Given the description of an element on the screen output the (x, y) to click on. 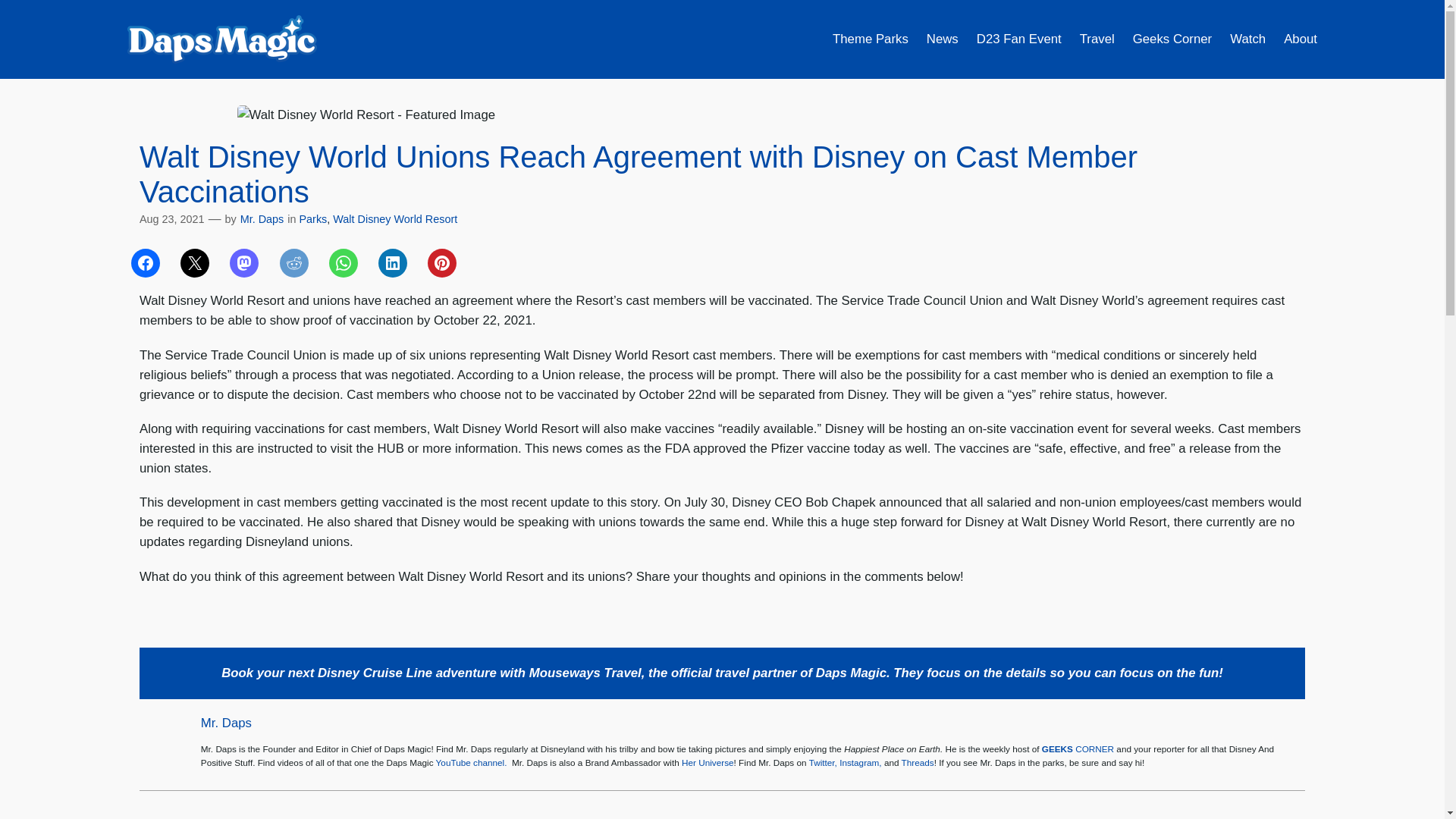
GEEKS CORNER (1077, 748)
Threads (917, 762)
Mr. Daps (261, 218)
About (1300, 39)
Her Universe (707, 762)
Mr. Daps (225, 722)
News (942, 39)
YouTube channel. (470, 762)
Twitter, (823, 762)
Walt Disney World Resort (395, 218)
